Given the description of an element on the screen output the (x, y) to click on. 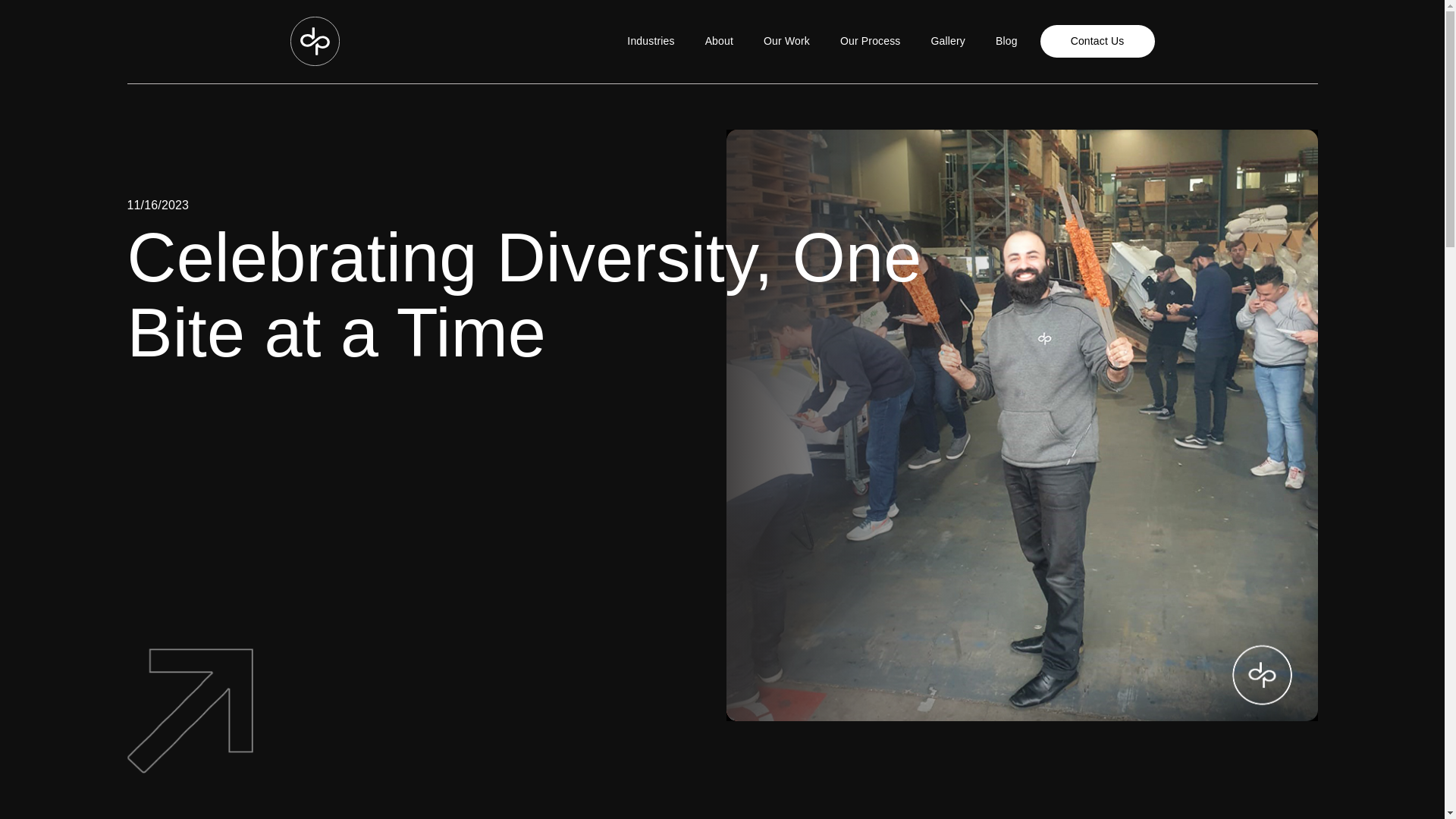
Contact Us (1097, 41)
Our Work (786, 41)
Our Process (870, 41)
Industries (649, 41)
